Given the description of an element on the screen output the (x, y) to click on. 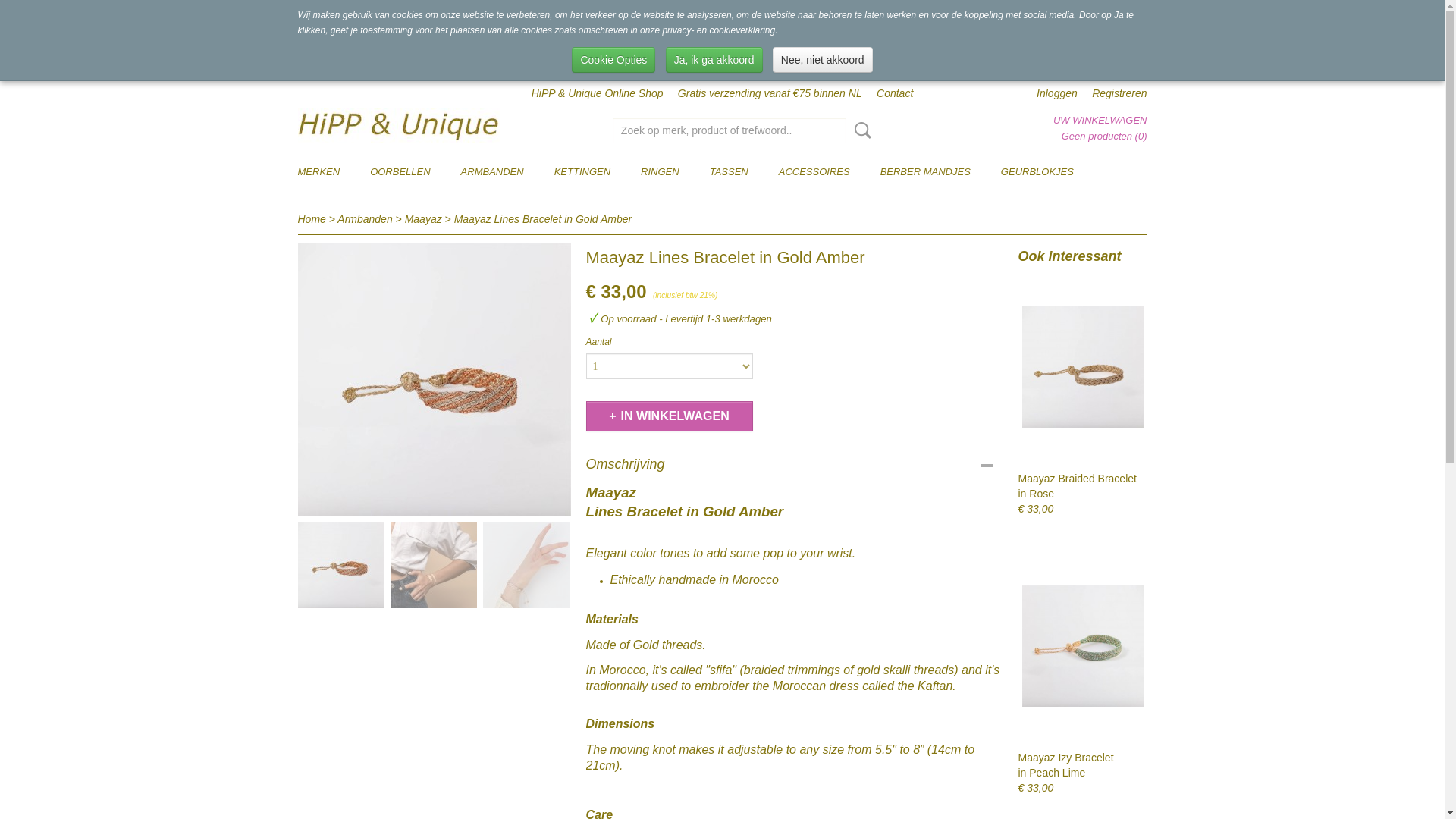
OORBELLEN (400, 172)
Zoeken (859, 129)
UW WINKELWAGEN (1099, 120)
Registreren (1119, 92)
ARMBANDEN (491, 172)
MERKEN (318, 172)
Inloggen (1056, 92)
Contact (894, 92)
